Given the description of an element on the screen output the (x, y) to click on. 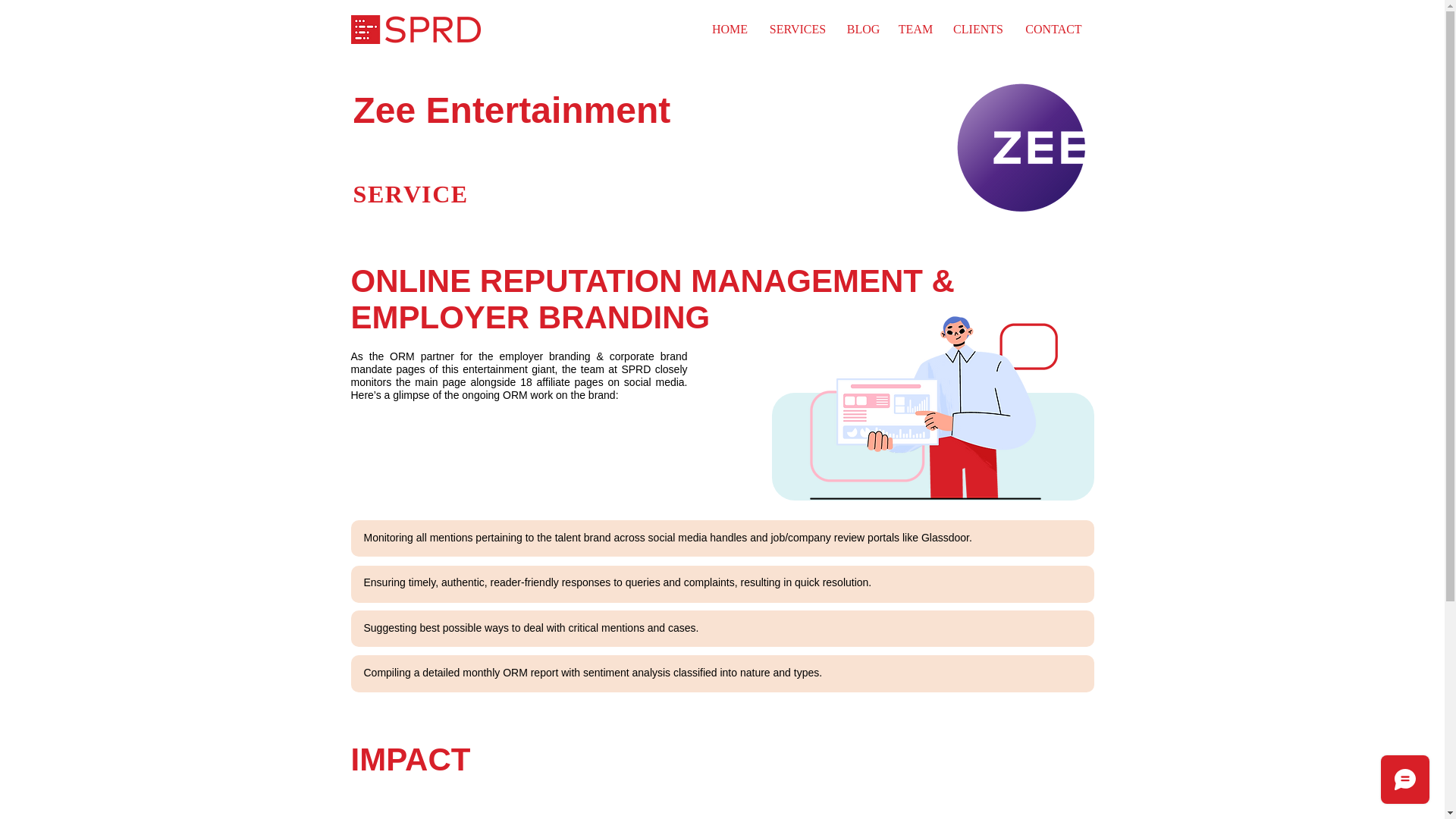
SERVICES (798, 29)
CONTACT (1053, 29)
TEAM (915, 29)
BLOG (862, 29)
HOME (729, 29)
birdseyeview.png (931, 406)
CLIENTS (977, 29)
